Given the description of an element on the screen output the (x, y) to click on. 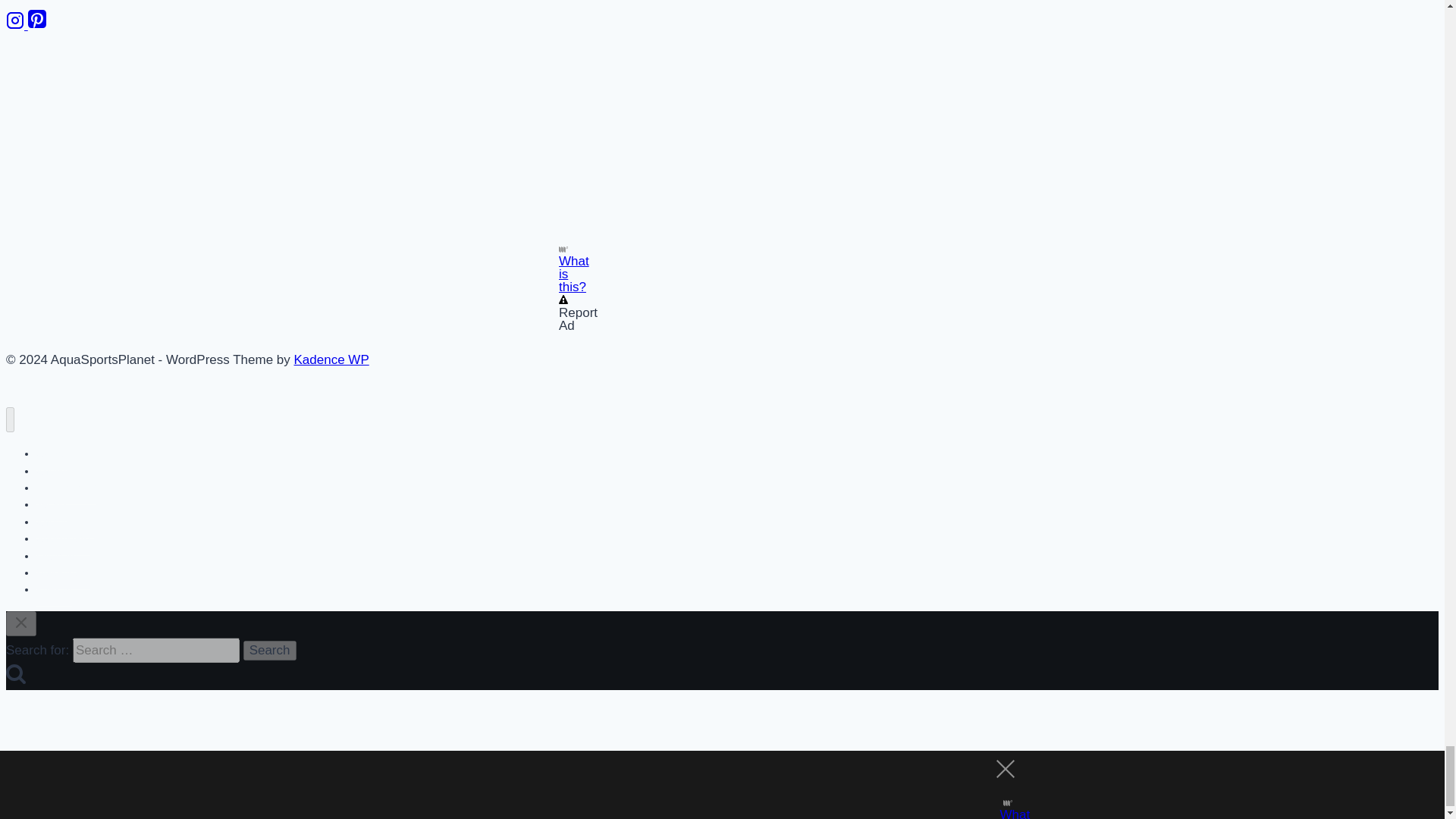
Toggle Menu Close (20, 622)
Search (15, 672)
Scuba (51, 453)
Kadence WP (331, 359)
Snowboard (63, 538)
Search (270, 650)
Wakeboard (63, 572)
Follow Anna on Instagram (16, 25)
Pinterest (36, 25)
Snorkel (53, 471)
Search (270, 650)
Instagram (16, 25)
Flyboard (56, 555)
Jet ski (51, 504)
Kitesurf (53, 589)
